Given the description of an element on the screen output the (x, y) to click on. 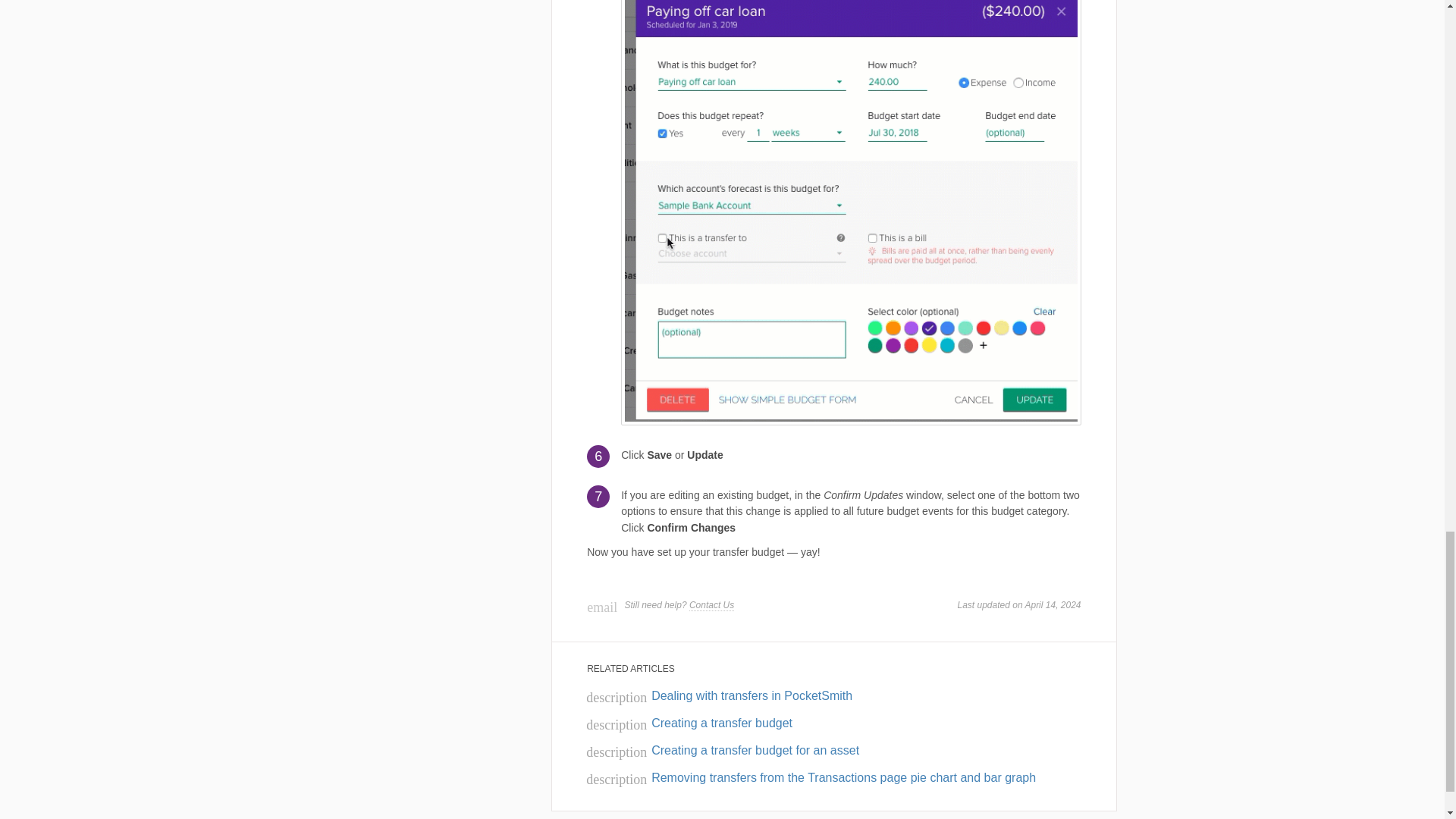
Creating a transfer budget (689, 722)
Creating a transfer budget for an asset (722, 749)
Contact Us (710, 604)
Dealing with transfers in PocketSmith (718, 695)
